Given the description of an element on the screen output the (x, y) to click on. 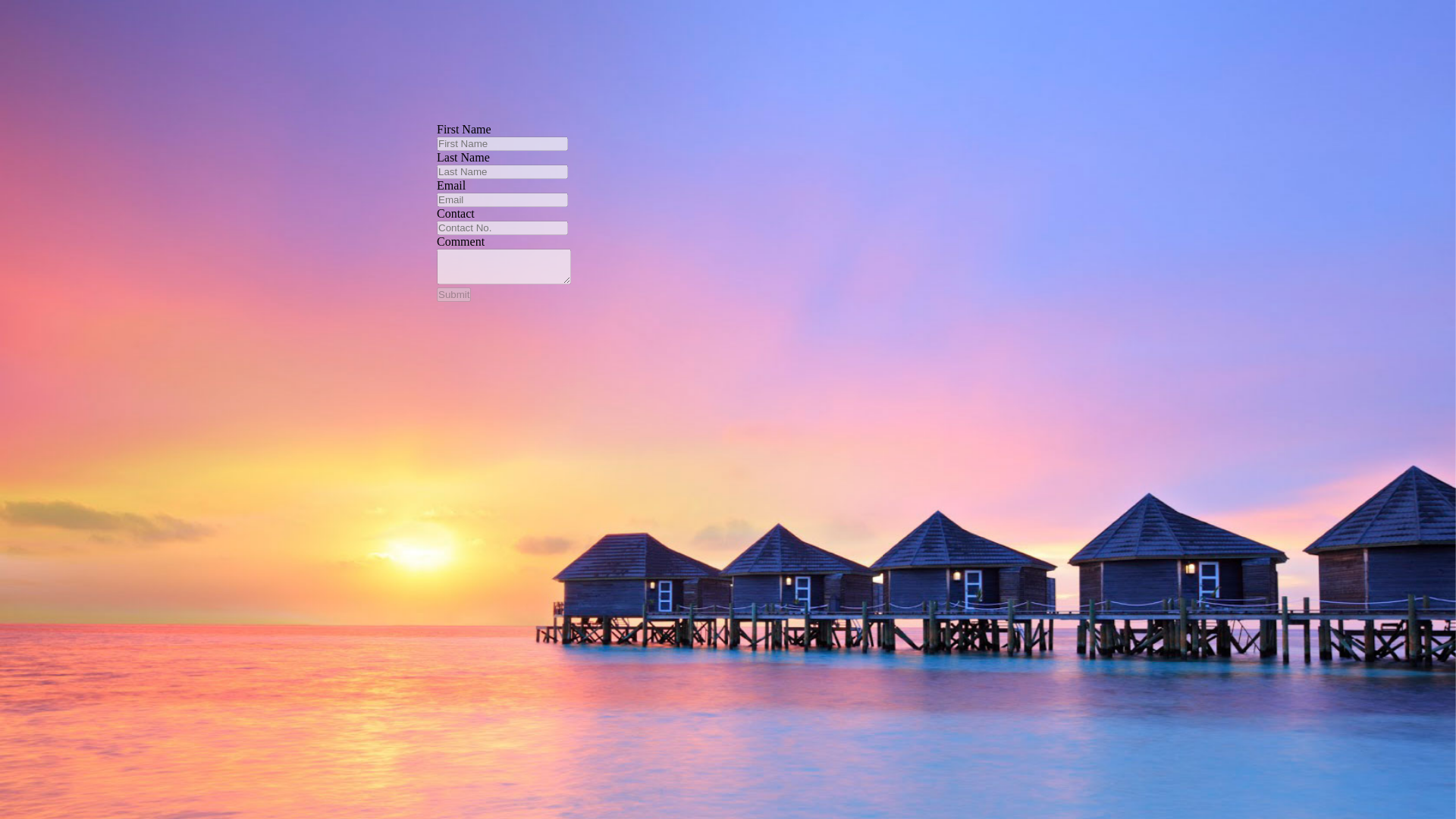
Home (14, 193)
download differential geometry of curves and surfaces (705, 86)
Sitemap (19, 179)
download marketing strategy, (419, 52)
